Given the description of an element on the screen output the (x, y) to click on. 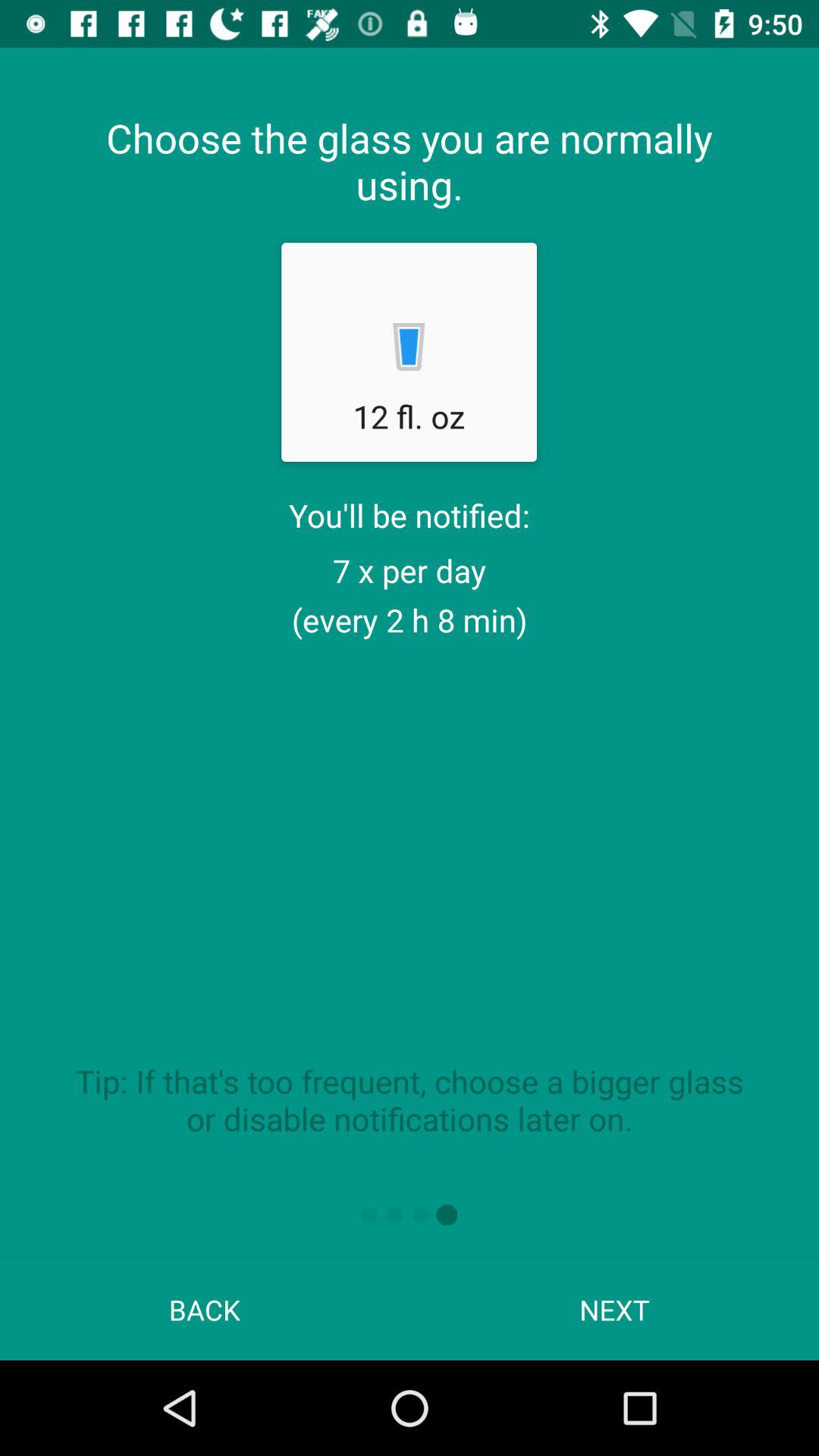
select icon to the left of next icon (204, 1309)
